Given the description of an element on the screen output the (x, y) to click on. 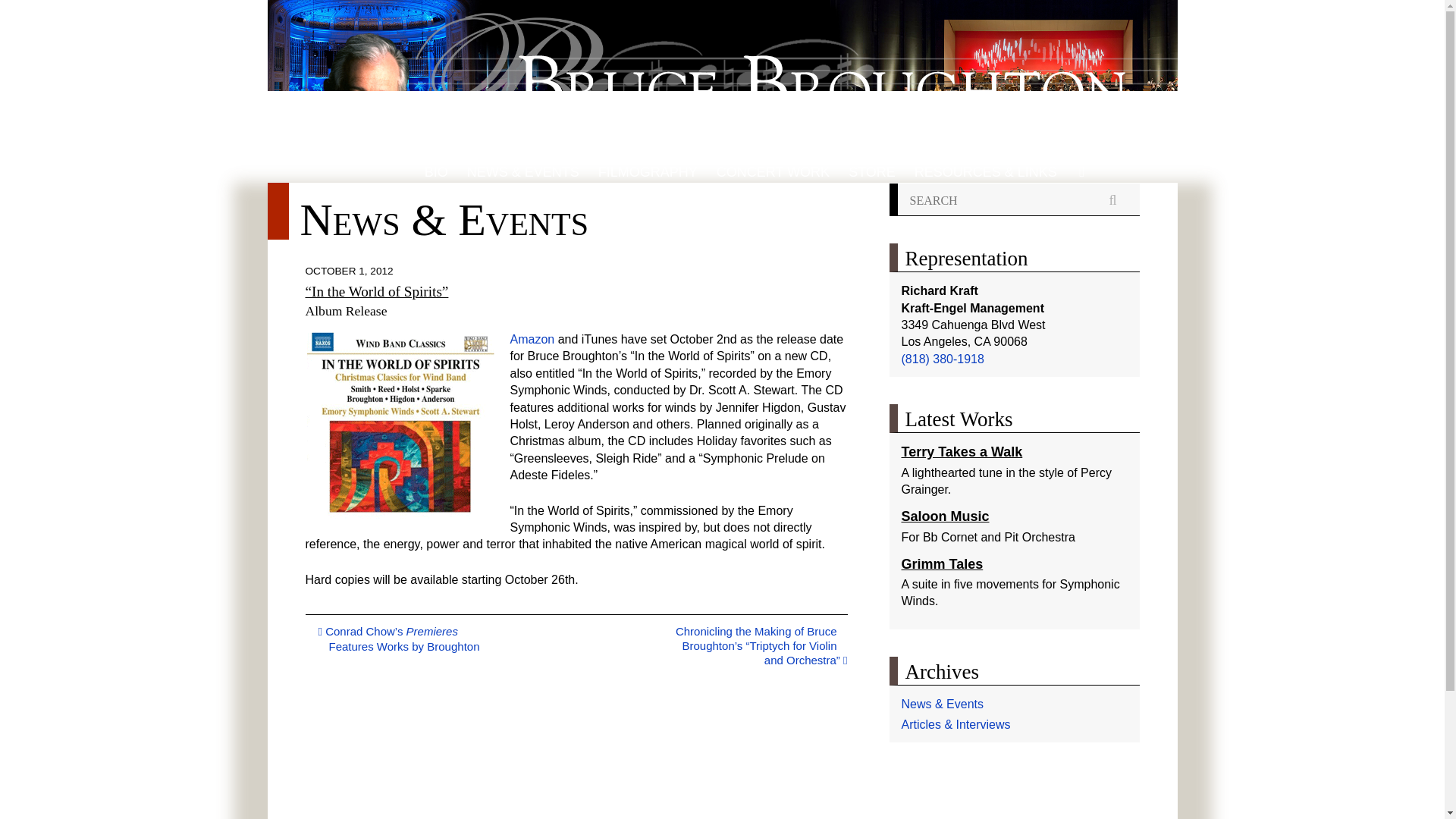
Amazon (531, 338)
Terry Takes a Walk (961, 451)
Saloon Music (944, 516)
BIO (436, 172)
STORE (871, 172)
Grimm Tales (941, 563)
FILMOGRAPHY (647, 172)
CONCERT WORK (772, 172)
